Given the description of an element on the screen output the (x, y) to click on. 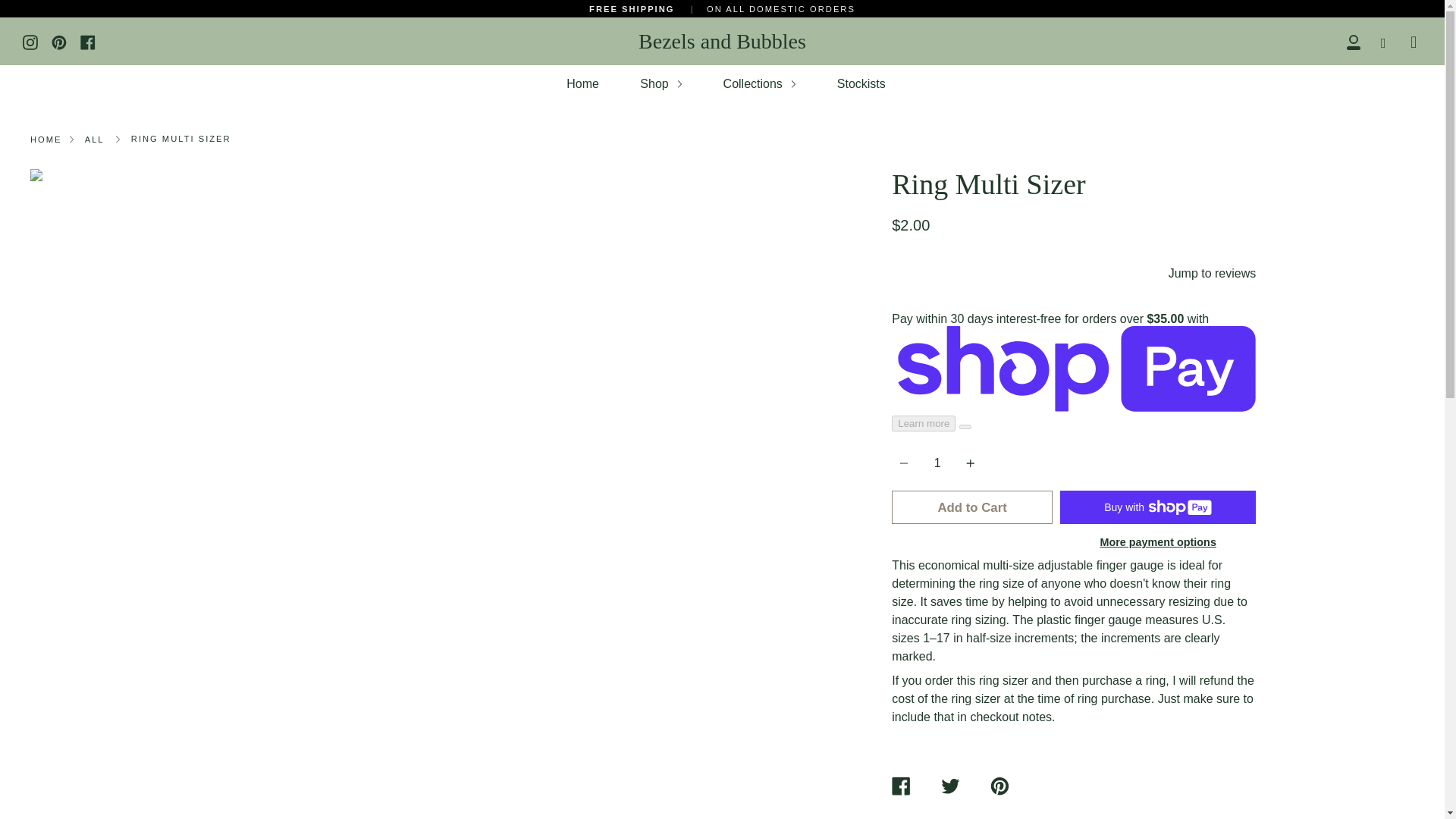
HOME (46, 139)
1 (936, 462)
Bezels and Bubbles on Instagram (30, 40)
Stockists (860, 83)
Facebook (88, 40)
ALL (94, 139)
Shop (660, 83)
Pinterest (58, 40)
Collections (759, 83)
Instagram (30, 40)
